Given the description of an element on the screen output the (x, y) to click on. 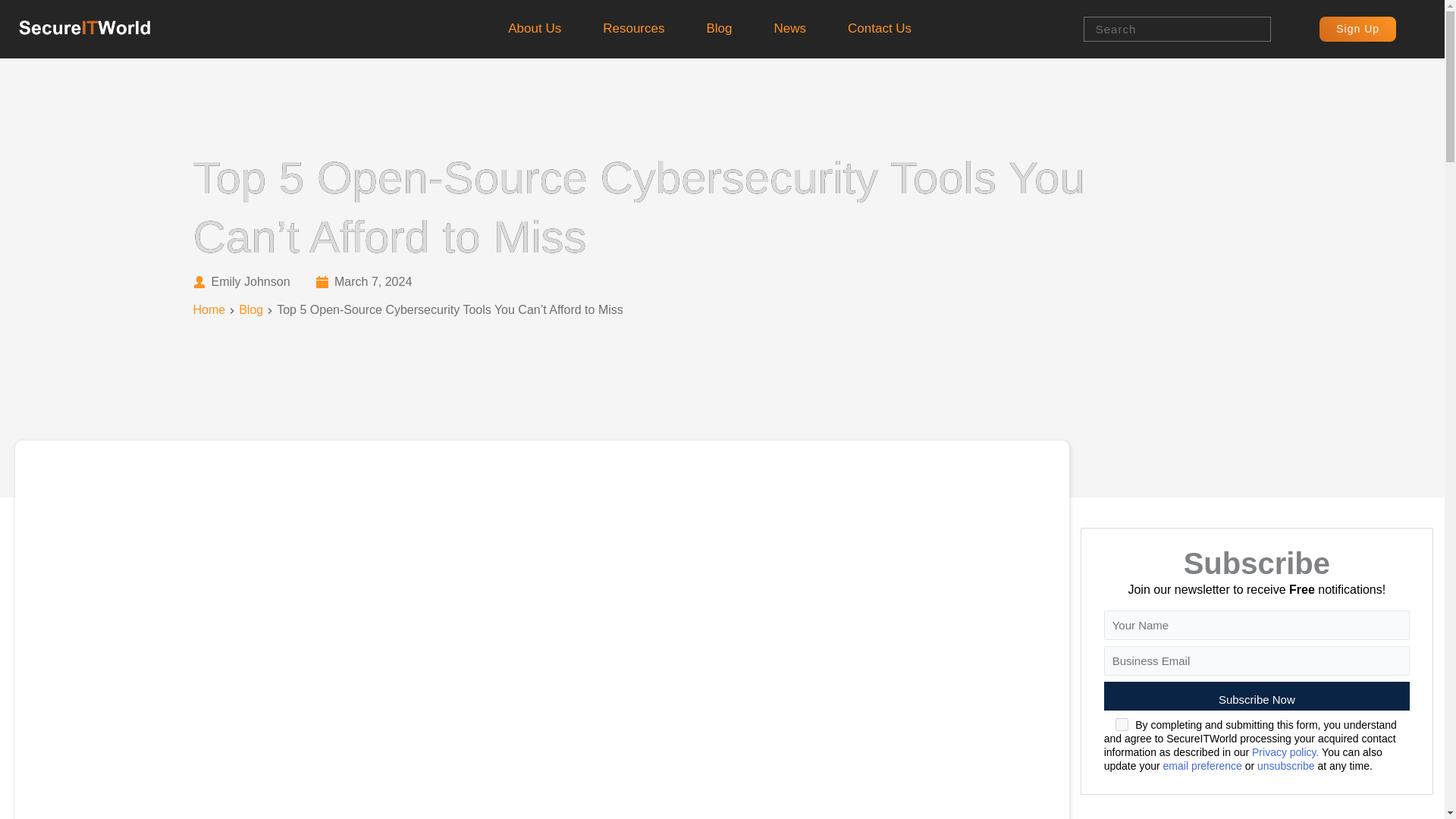
1 (1122, 724)
Resources (633, 29)
About Us (533, 29)
Blog (718, 29)
Subscribe Now (1256, 695)
Contact Us (879, 29)
News (790, 29)
Subscribe Now (716, 58)
